Given the description of an element on the screen output the (x, y) to click on. 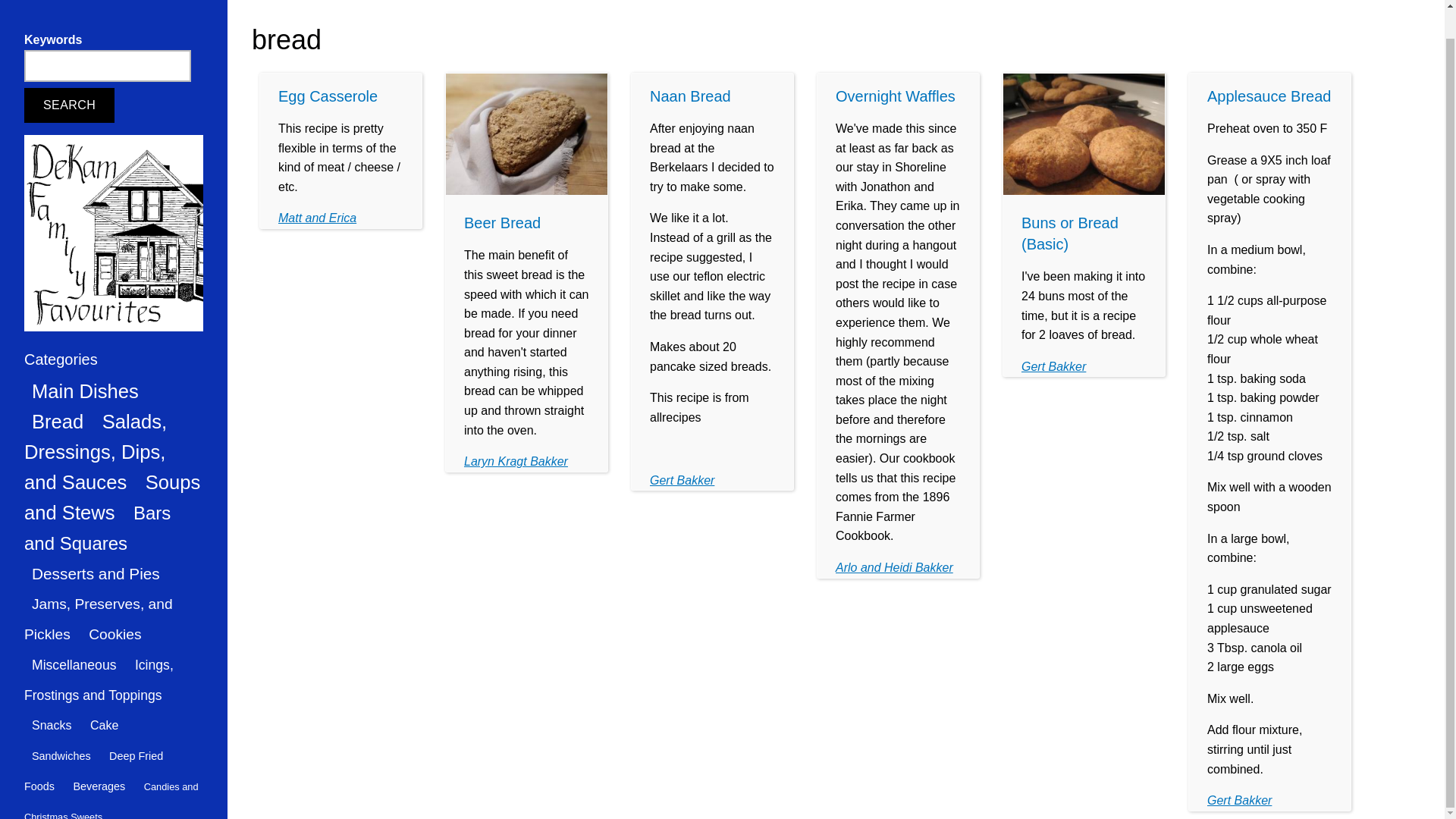
Search (69, 76)
Cake (103, 696)
Beverages (98, 757)
Sandwiches (61, 727)
Bread (57, 392)
Search (69, 76)
Icings, Frostings and Toppings (98, 651)
Main Dishes (85, 361)
Deep Fried Foods (93, 742)
Desserts and Pies (95, 544)
Jams, Preserves, and Pickles (98, 590)
Miscellaneous (74, 636)
Candies and Christmas Sweets (111, 772)
Cookies (114, 605)
Salads, Dressings, Dips, and Sauces (95, 422)
